Given the description of an element on the screen output the (x, y) to click on. 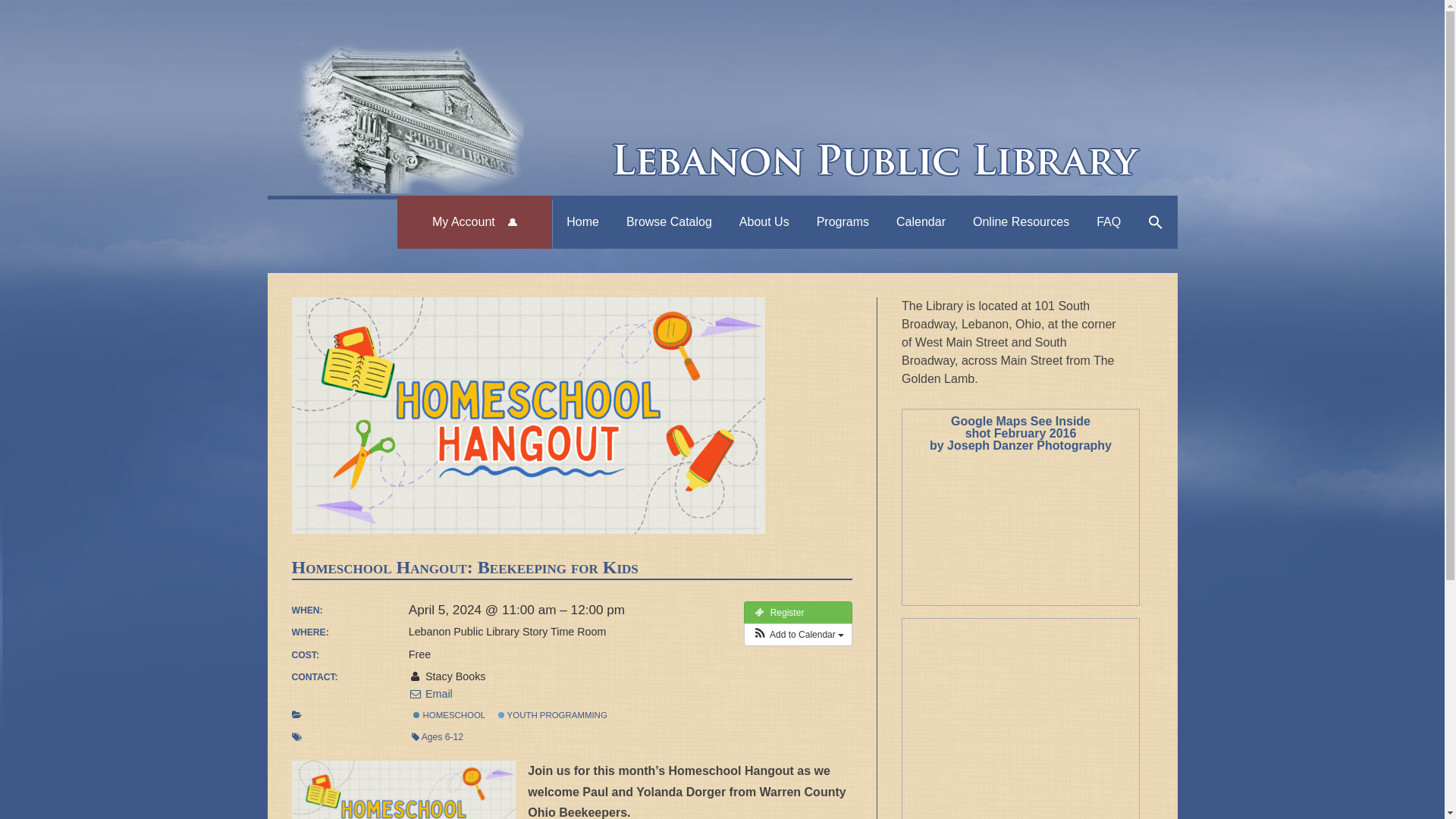
About Us (764, 221)
My Account (475, 221)
YOUTH PROGRAMMING (552, 714)
Online Resources (1020, 221)
Browse Catalog (668, 221)
Tags (296, 737)
History (813, 262)
Calendar (920, 221)
Youth Programming (500, 714)
